Given the description of an element on the screen output the (x, y) to click on. 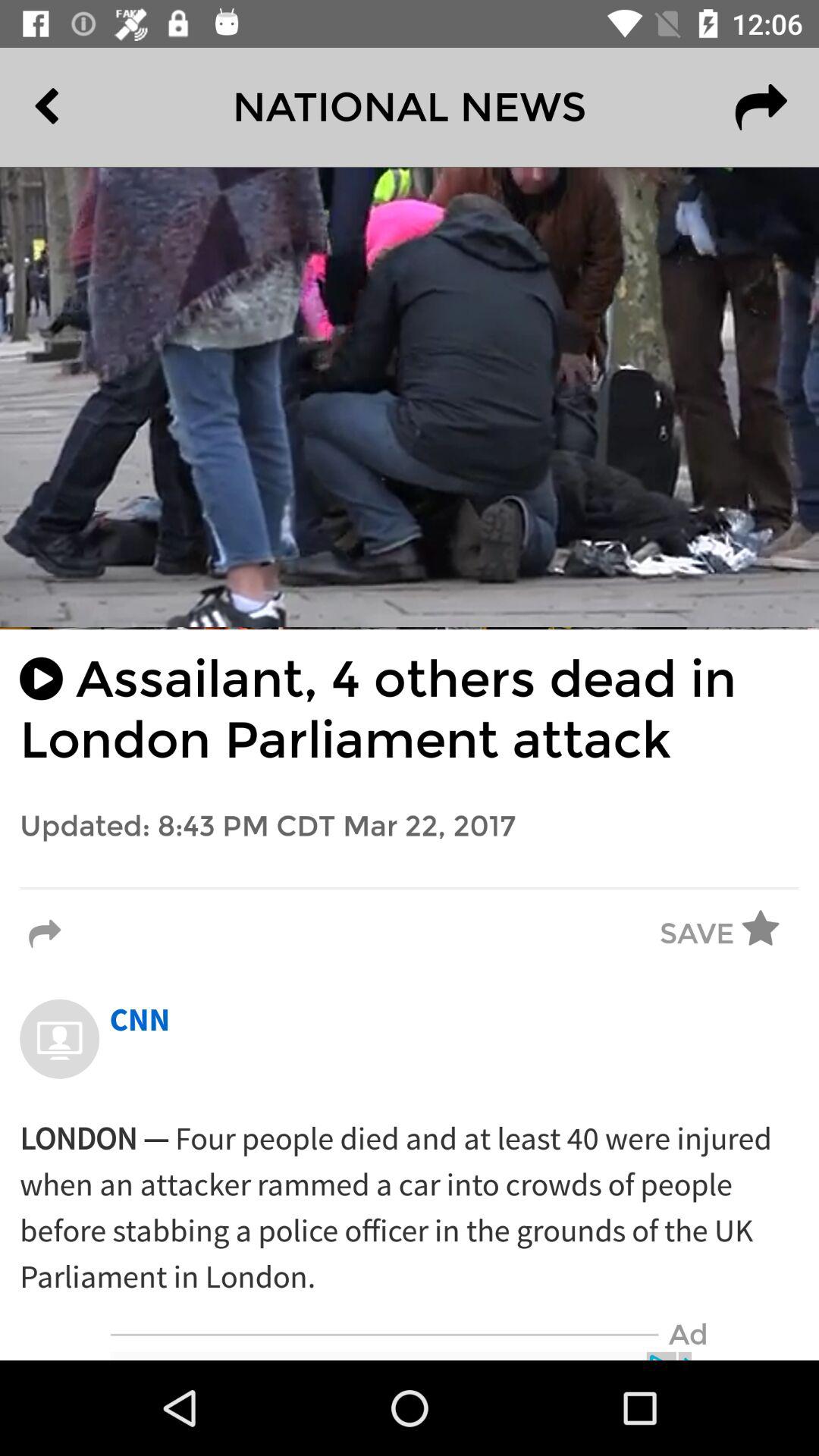
tap item next to national news (761, 107)
